Given the description of an element on the screen output the (x, y) to click on. 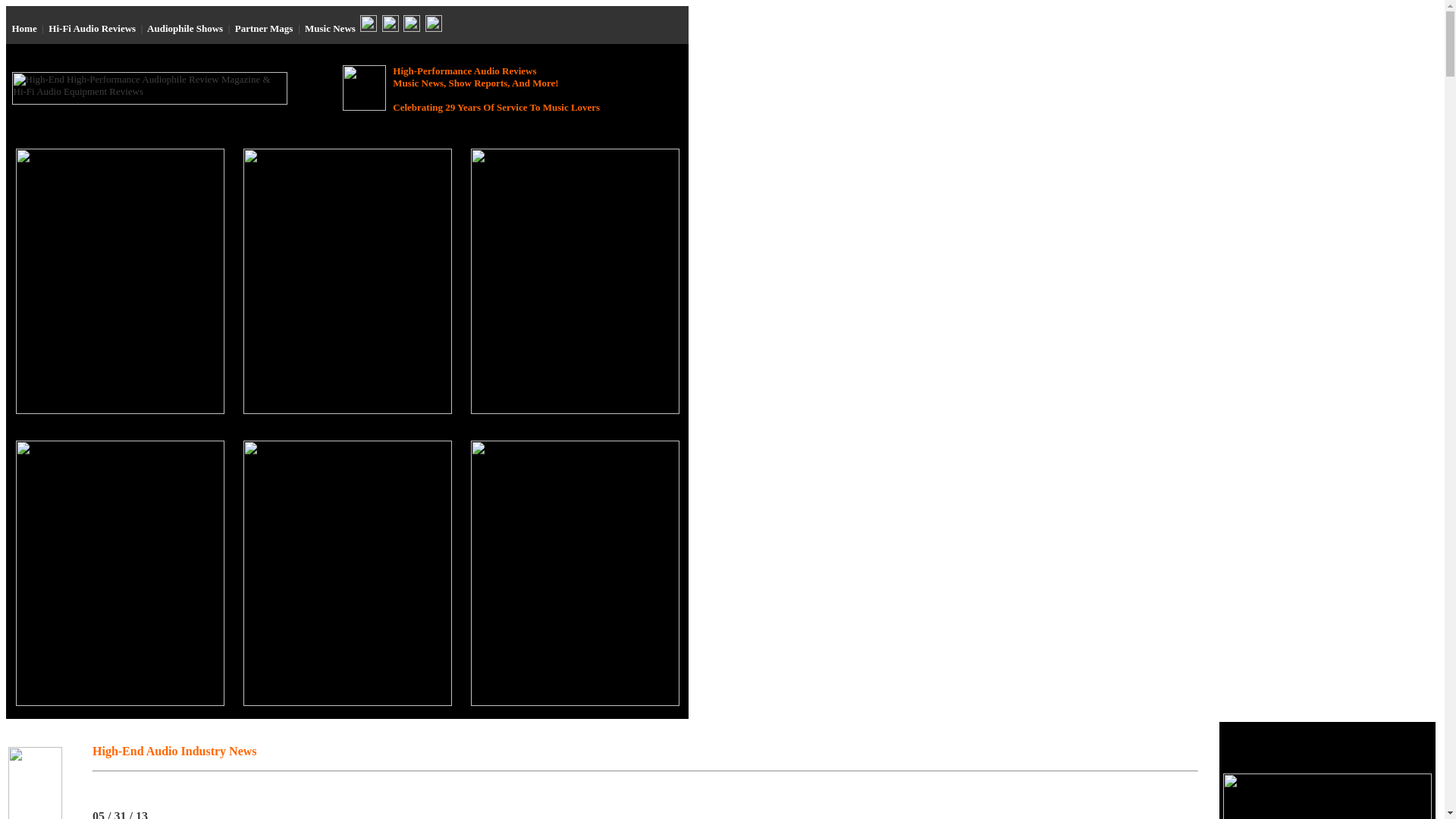
Hi-Fi Audio Reviews (91, 28)
Audiophile Shows (184, 28)
Music News (329, 28)
Partner Mags (264, 28)
Home (24, 28)
